Given the description of an element on the screen output the (x, y) to click on. 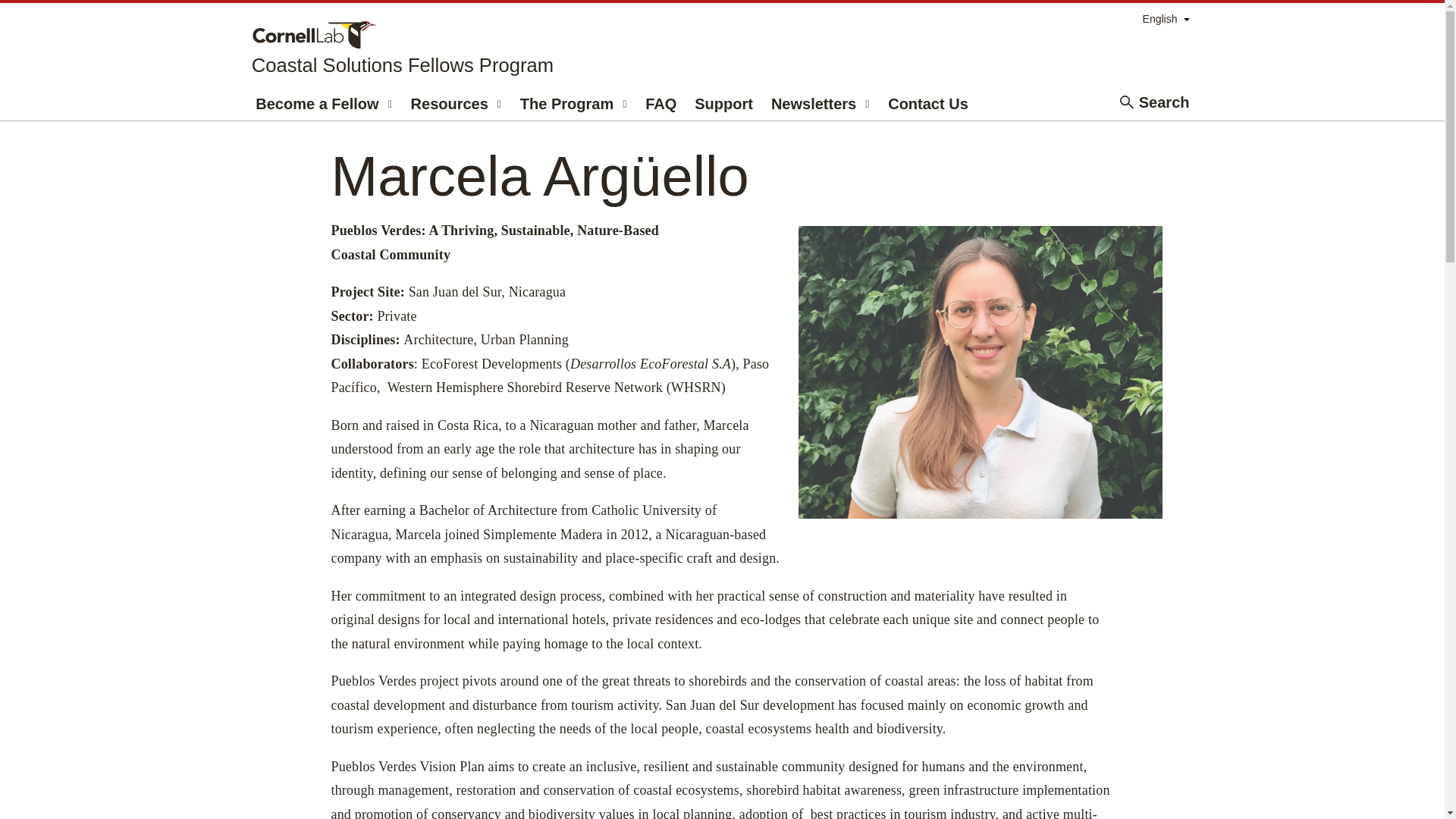
English (1166, 19)
Support (722, 102)
Become a Fellow (316, 102)
Return Home (402, 46)
Search (1151, 102)
Resources (449, 102)
The Program (566, 102)
Contact Us (927, 102)
Coastal Solutions Fellows Program (402, 65)
Coastal Solutions Fellows Program (402, 46)
FAQ (660, 102)
Search (1163, 102)
Newsletters (813, 102)
